Given the description of an element on the screen output the (x, y) to click on. 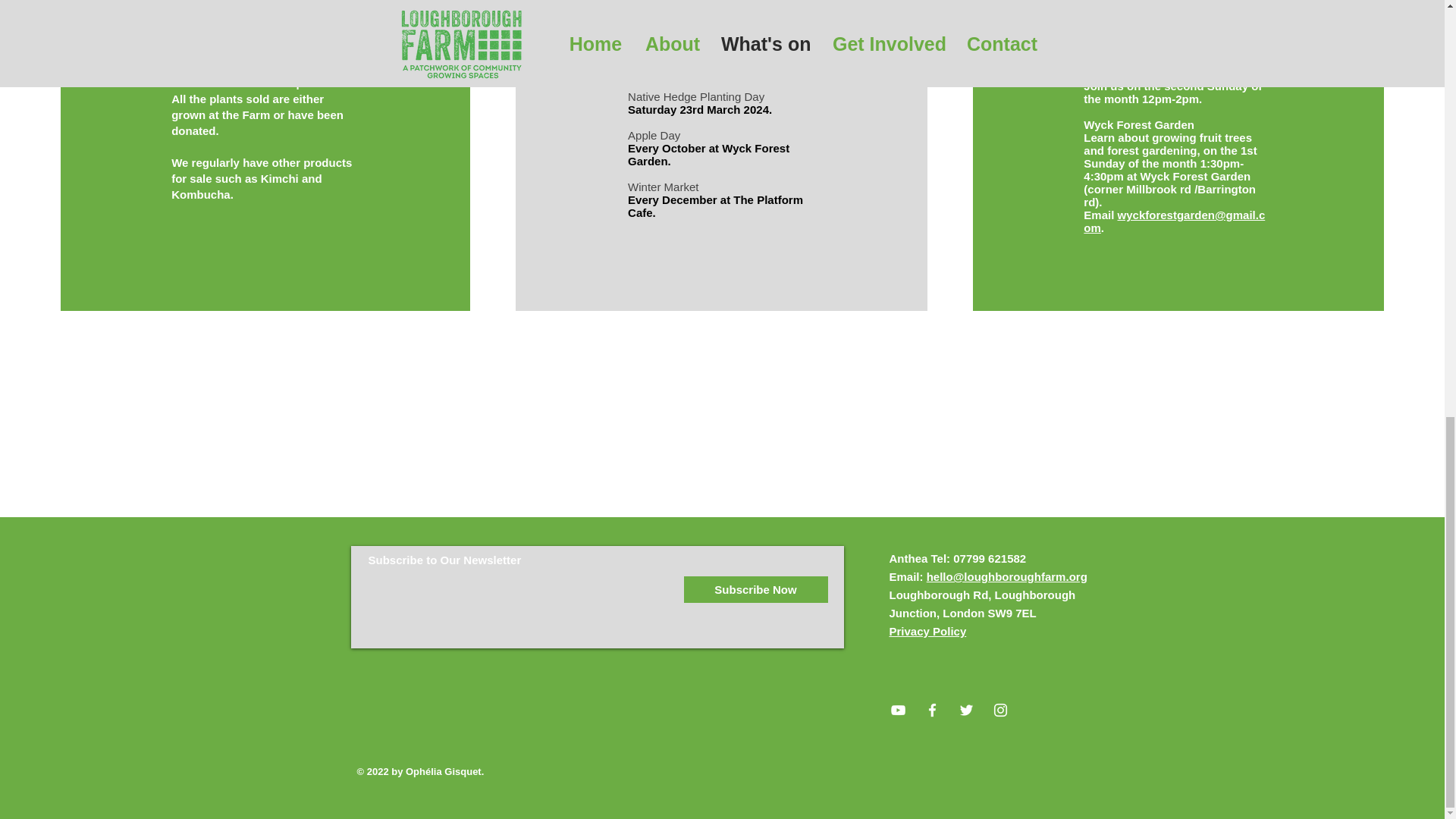
here (670, 19)
here (718, 70)
Privacy Policy (927, 631)
Subscribe Now (756, 589)
